Given the description of an element on the screen output the (x, y) to click on. 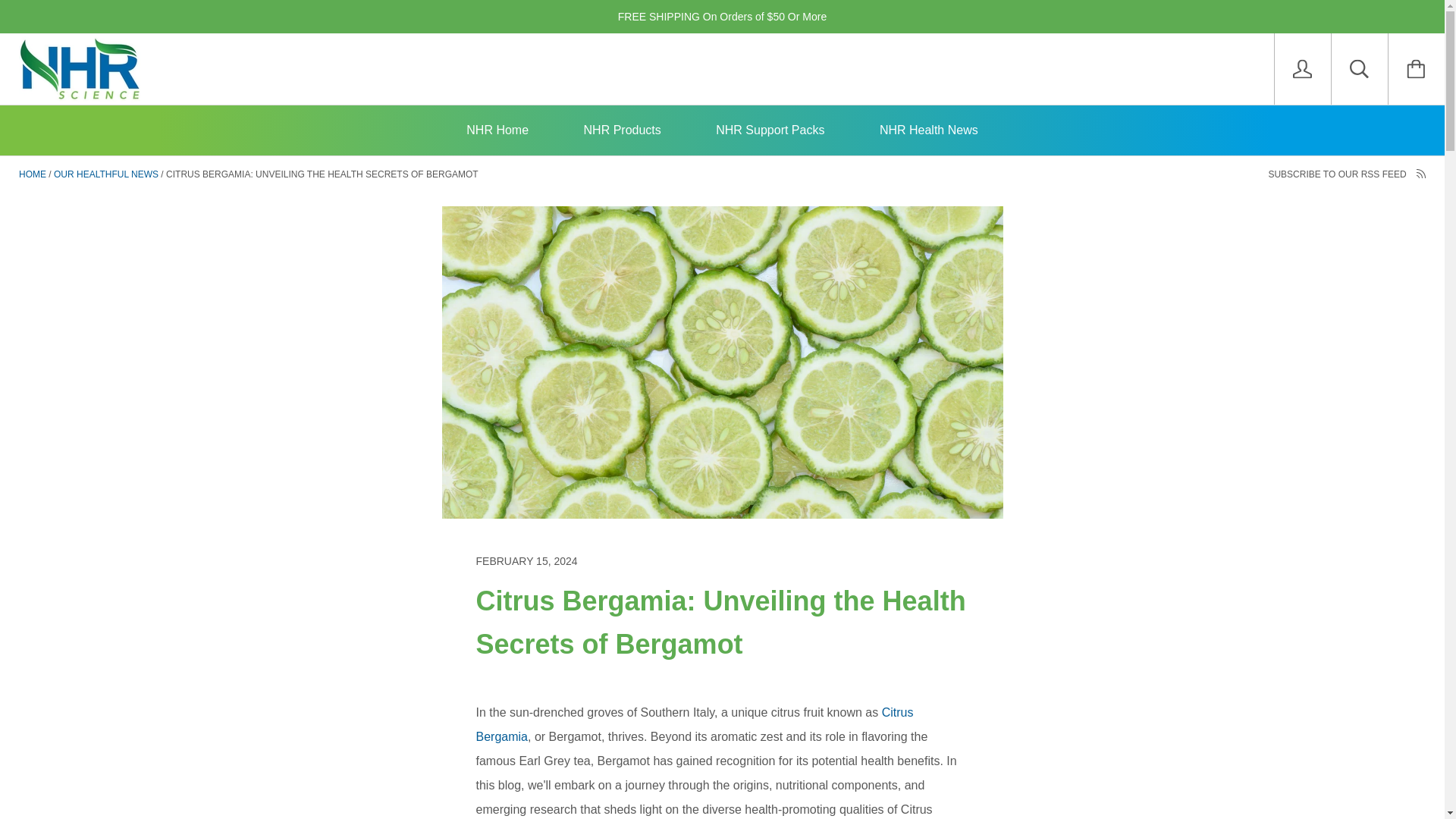
SUBSCRIBE TO OUR RSS FEED (1346, 173)
OUR HEALTHFUL NEWS (105, 173)
NHR Support Packs (770, 130)
NHR Home (497, 130)
NHR Products (622, 130)
HOME (32, 173)
NHR Health News (928, 130)
Citrus Bergamia (695, 723)
